Given the description of an element on the screen output the (x, y) to click on. 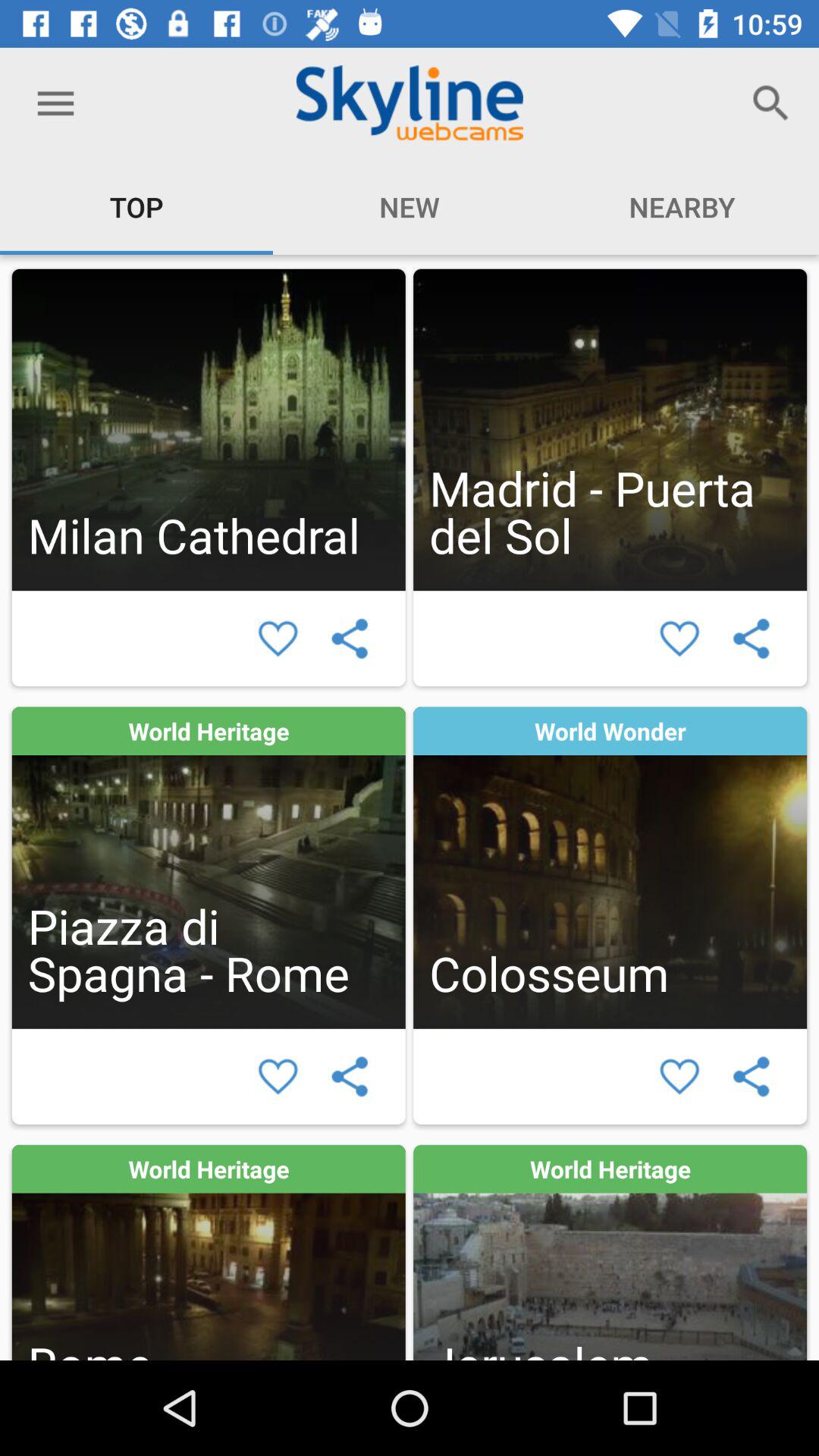
share link (349, 1076)
